Given the description of an element on the screen output the (x, y) to click on. 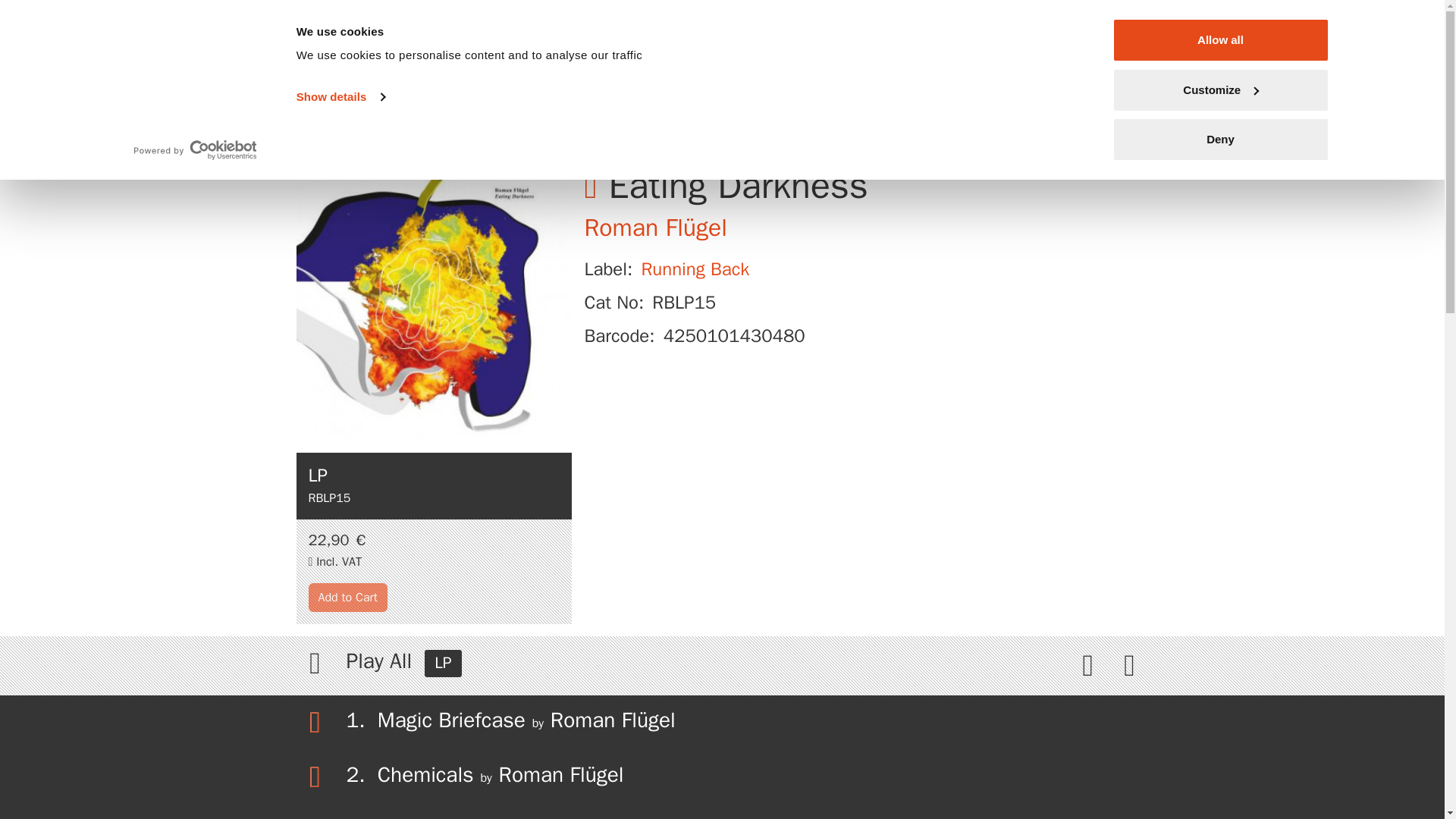
Deny (1219, 139)
Customize (1219, 89)
Show details (340, 96)
Play next song (1128, 664)
Kompakt (1039, 26)
Log in (1117, 78)
Allow all (1219, 40)
Play previous song (1089, 664)
Play (314, 663)
